Given the description of an element on the screen output the (x, y) to click on. 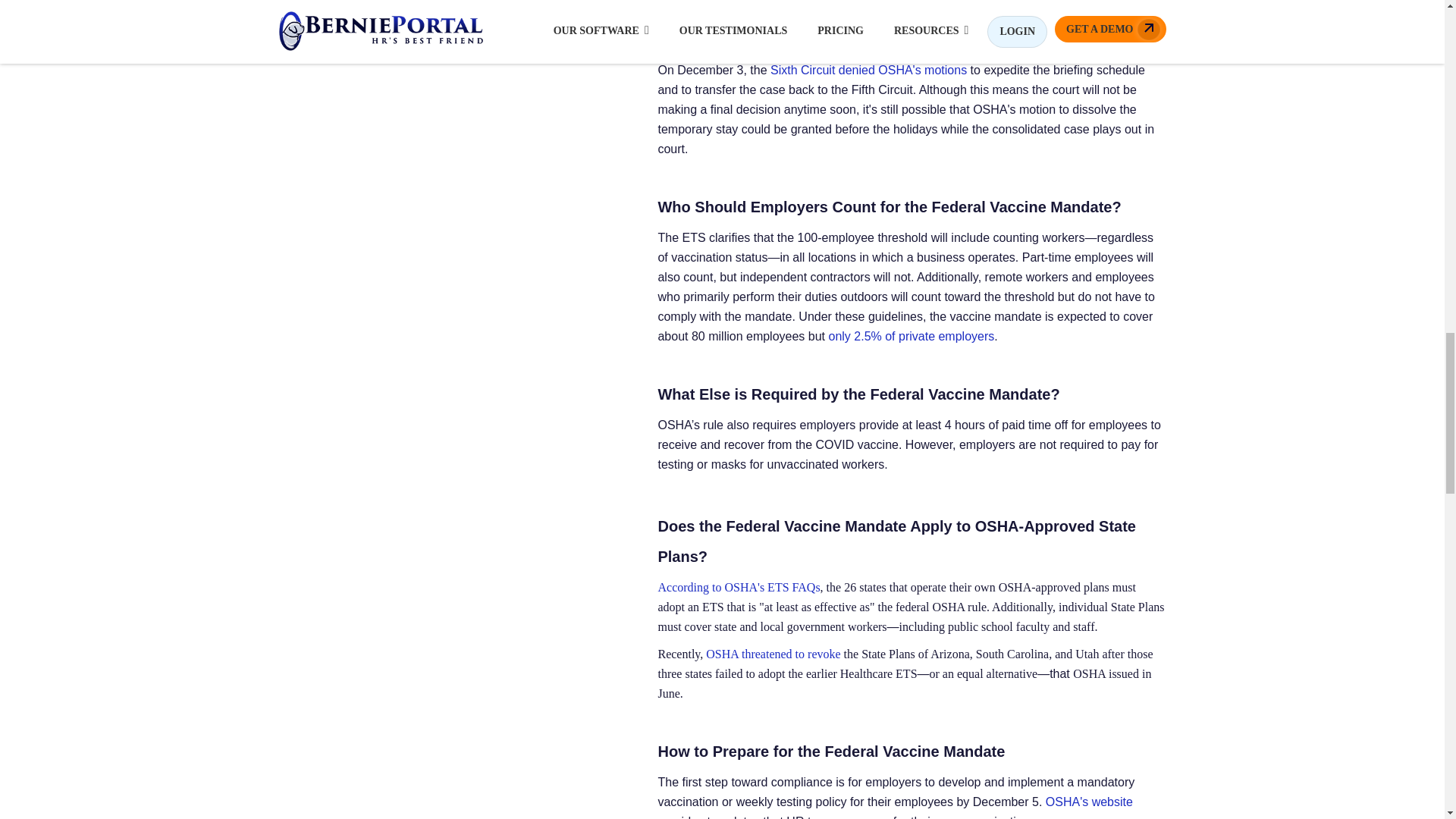
According to OSHA's ETS FAQs (738, 586)
Sixth Circuit denied OSHA's motions (868, 69)
assigned to the US Court of Appeals for the Sixth Circuit (808, 22)
